Given the description of an element on the screen output the (x, y) to click on. 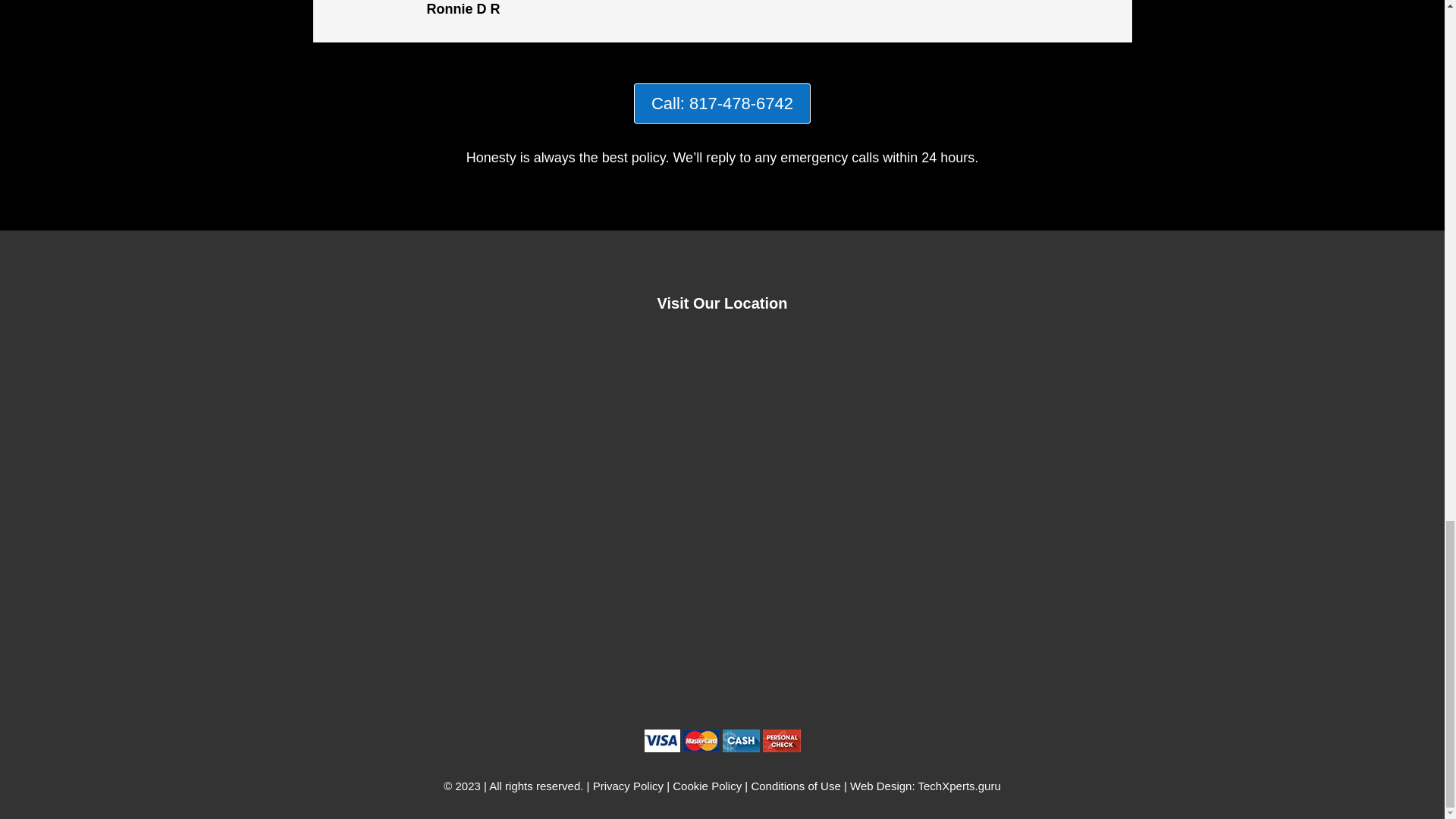
Privacy Policy (627, 785)
Cookie Policy (706, 785)
Pay-253w (722, 740)
Web Design: TechXperts.guru (925, 785)
Conditions of Use (795, 785)
Call: 817-478-6742 (721, 103)
